Given the description of an element on the screen output the (x, y) to click on. 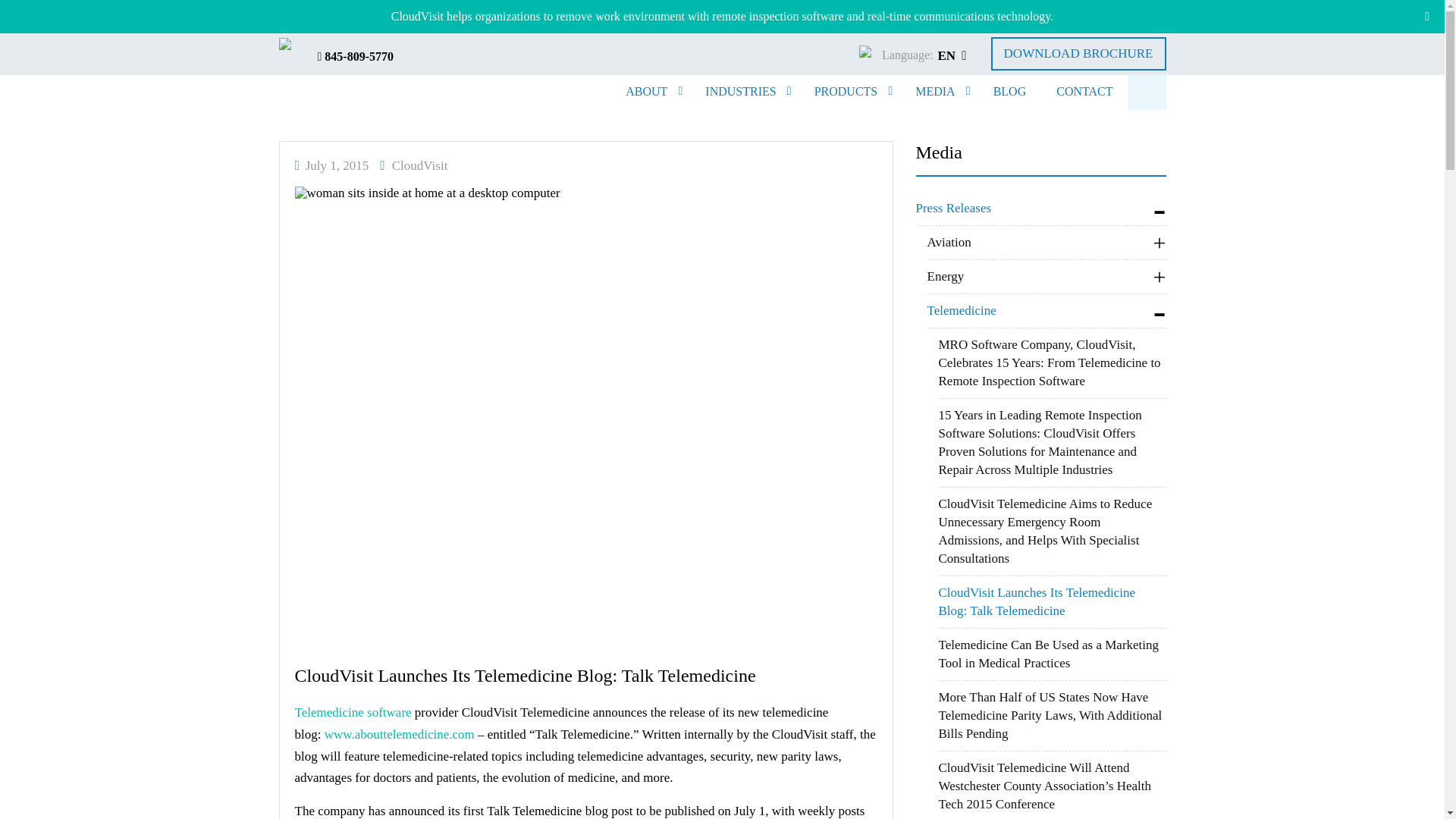
EN (951, 55)
Search for: (1147, 92)
INDUSTRIES (743, 91)
DOWNLOAD BROCHURE (1078, 53)
ABOUT (650, 91)
Search (26, 16)
